Given the description of an element on the screen output the (x, y) to click on. 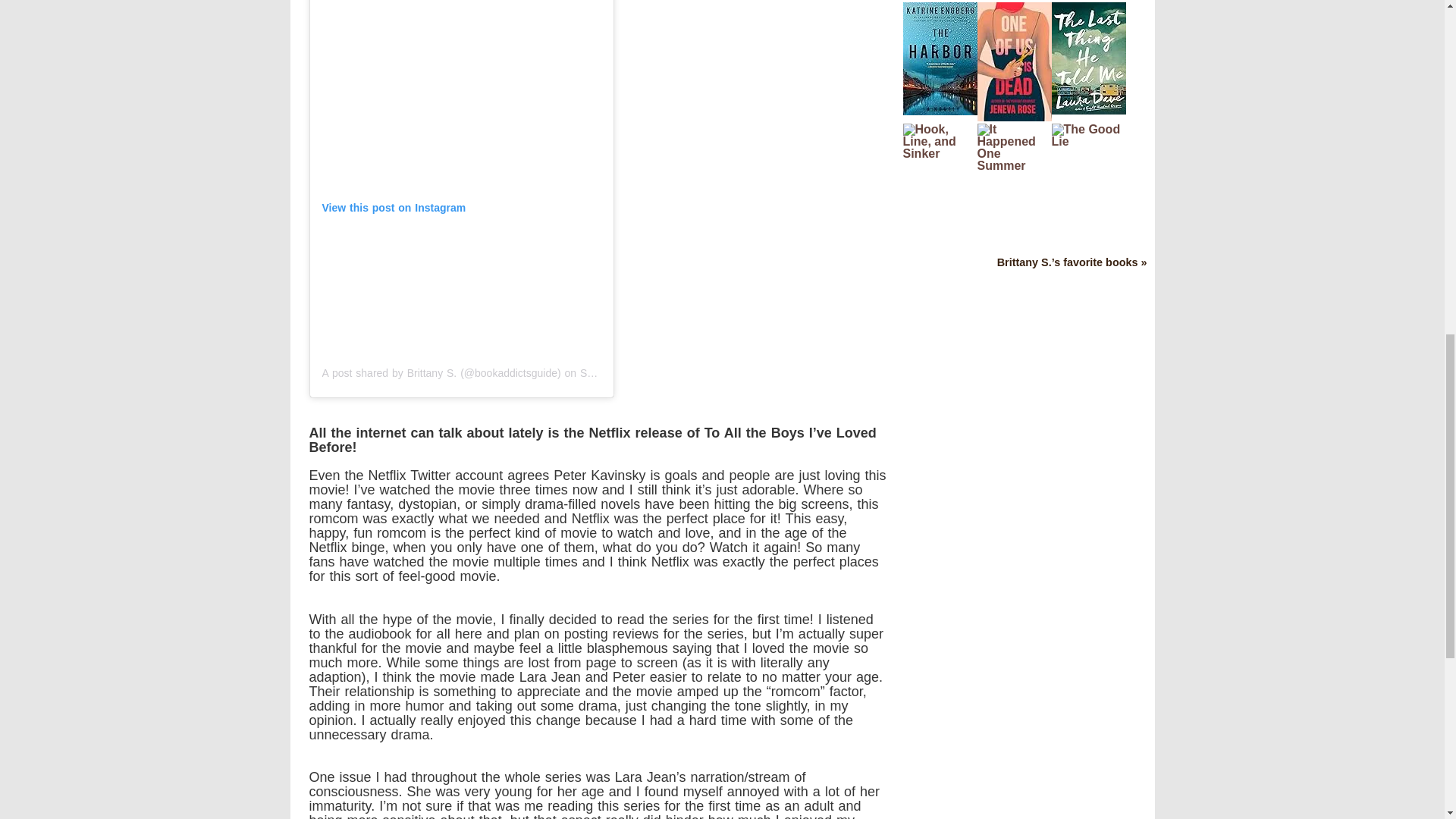
The Good Lie (1088, 141)
The Last Thing He Told Me (1088, 110)
One of Us Is Dead (1013, 116)
